Given the description of an element on the screen output the (x, y) to click on. 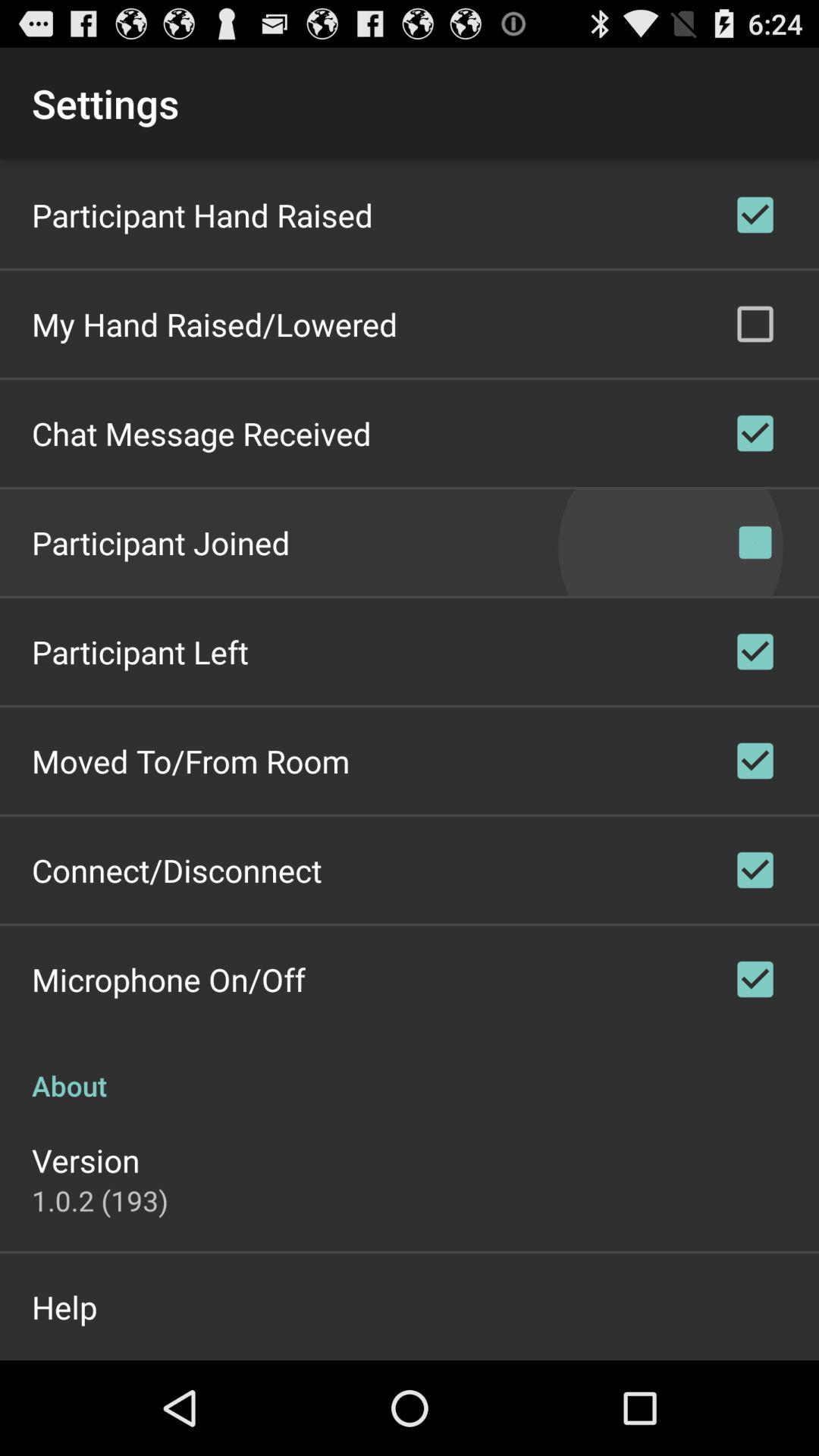
jump to participant left app (139, 651)
